Given the description of an element on the screen output the (x, y) to click on. 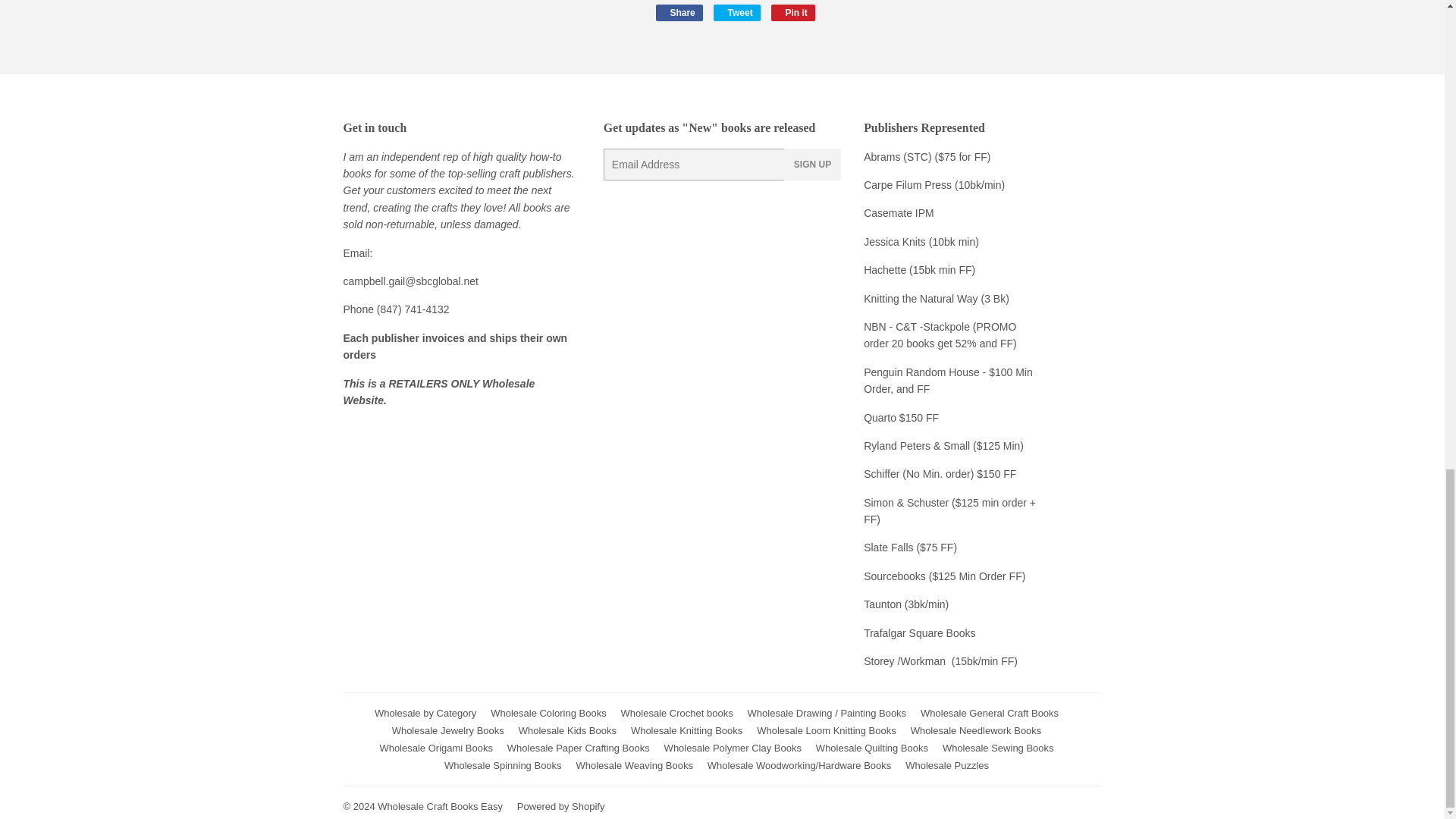
Share on Facebook (678, 12)
Pin on Pinterest (793, 12)
Quarto (881, 417)
Casemate IPM (898, 213)
Penguin Random House (678, 12)
Sourcebooks (921, 372)
Tweet on Twitter (736, 12)
SIGN UP (944, 576)
